Given the description of an element on the screen output the (x, y) to click on. 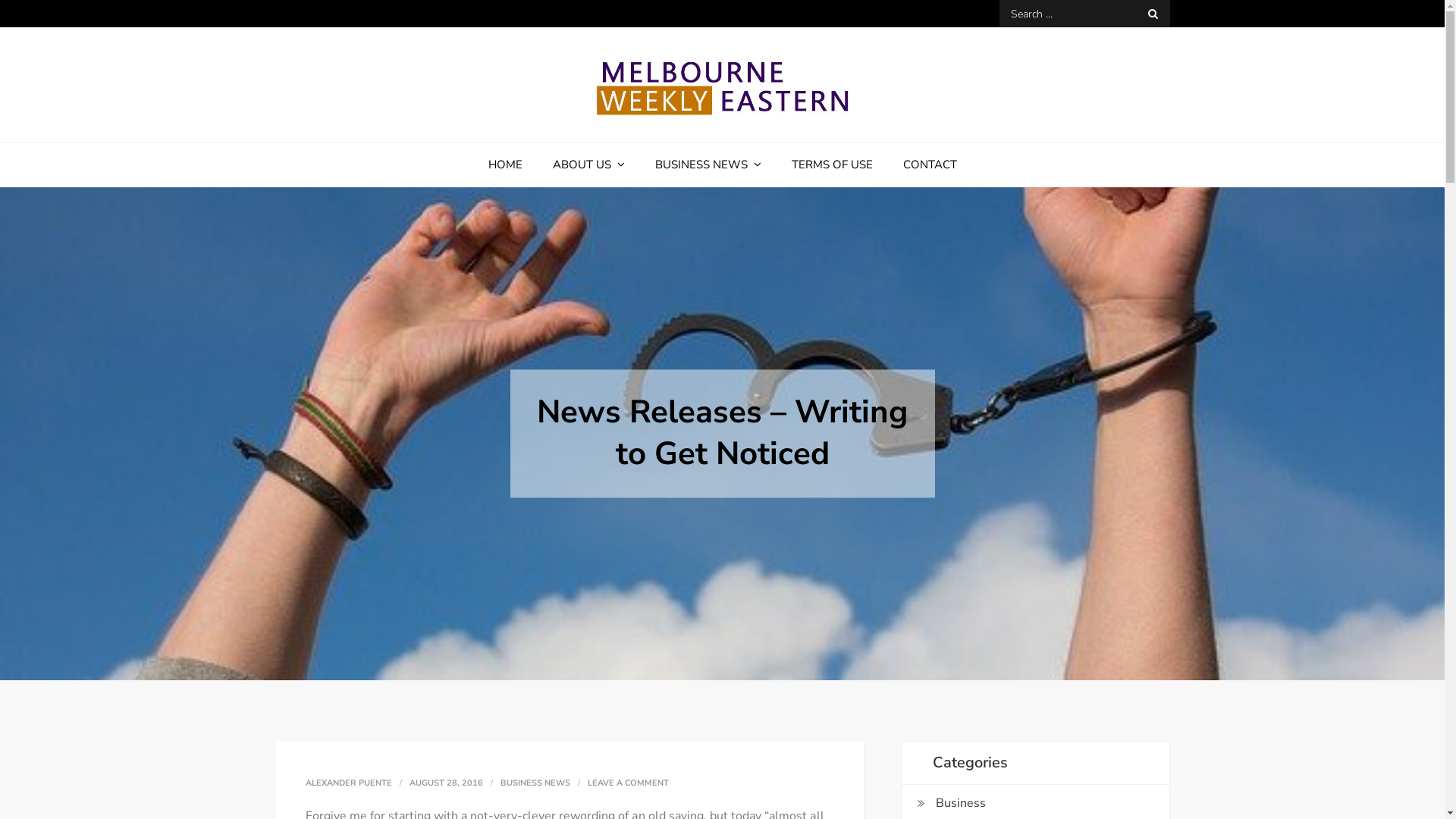
BUSINESS NEWS Element type: text (535, 782)
Search for: Element type: hover (1084, 13)
BUSINESS NEWS Element type: text (708, 164)
Search Element type: text (1152, 13)
HOME Element type: text (505, 164)
CONTACT Element type: text (928, 164)
Melbourne Weekly Eastern Blog Element type: text (510, 146)
ALEXANDER PUENTE Element type: text (347, 782)
ABOUT US Element type: text (587, 164)
TERMS OF USE Element type: text (832, 164)
Business Element type: text (960, 802)
AUGUST 28, 2016 Element type: text (446, 782)
